Given the description of an element on the screen output the (x, y) to click on. 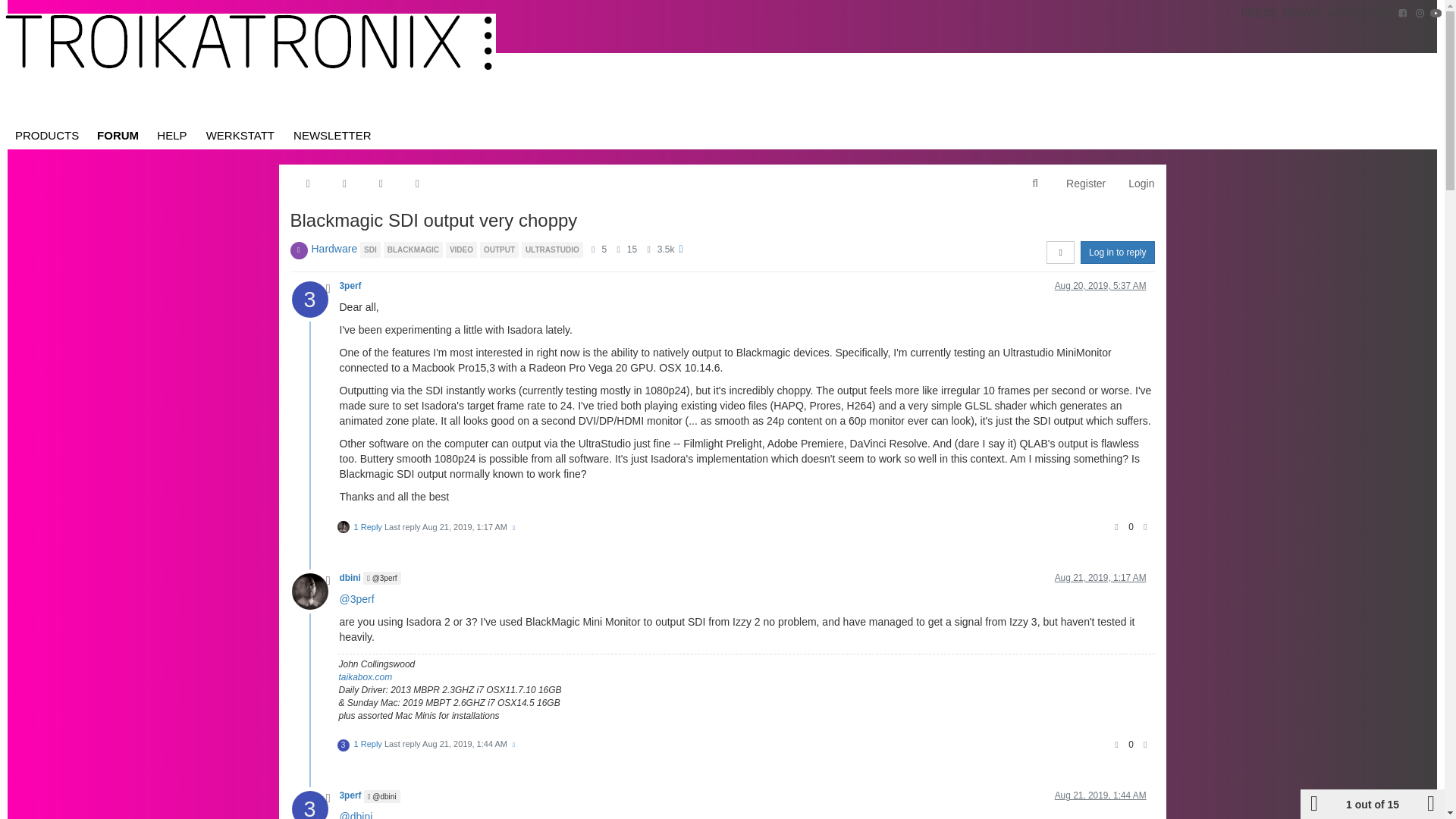
Login (1141, 183)
Search (1034, 183)
Posters (593, 248)
HELP (172, 135)
PRESS (1258, 12)
Register (1085, 183)
WERKSTATT (240, 135)
NEWSLETTER (331, 135)
PRODUCTS (46, 135)
FORUM (117, 135)
